Given the description of an element on the screen output the (x, y) to click on. 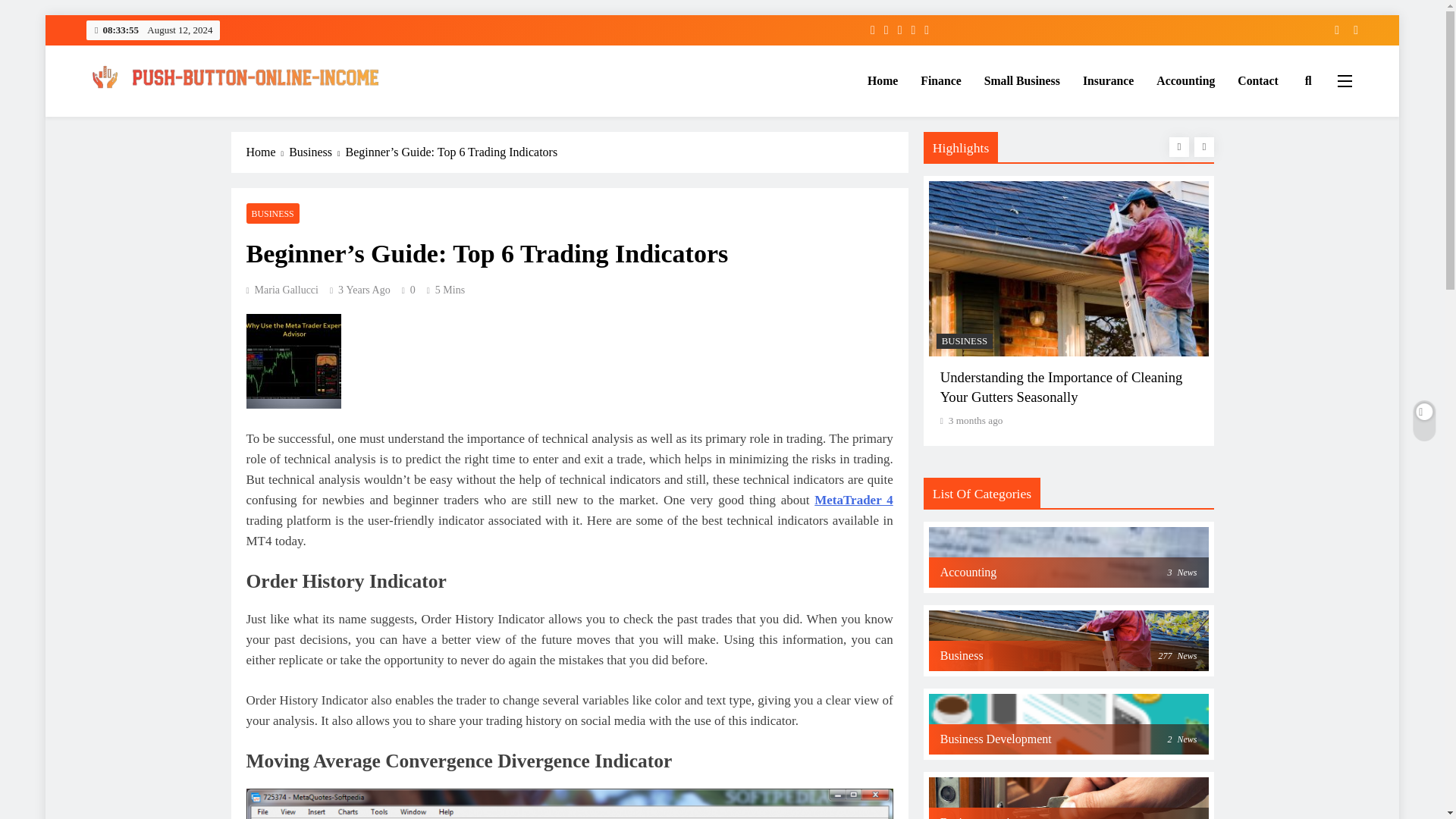
BUSINESS (272, 213)
3 Years Ago (363, 289)
Accounting (1184, 80)
Small Business (1021, 80)
Contact (1256, 80)
Business (316, 152)
Home (882, 80)
Skilled Push Button Online Income (256, 117)
Maria Gallucci (281, 289)
